Given the description of an element on the screen output the (x, y) to click on. 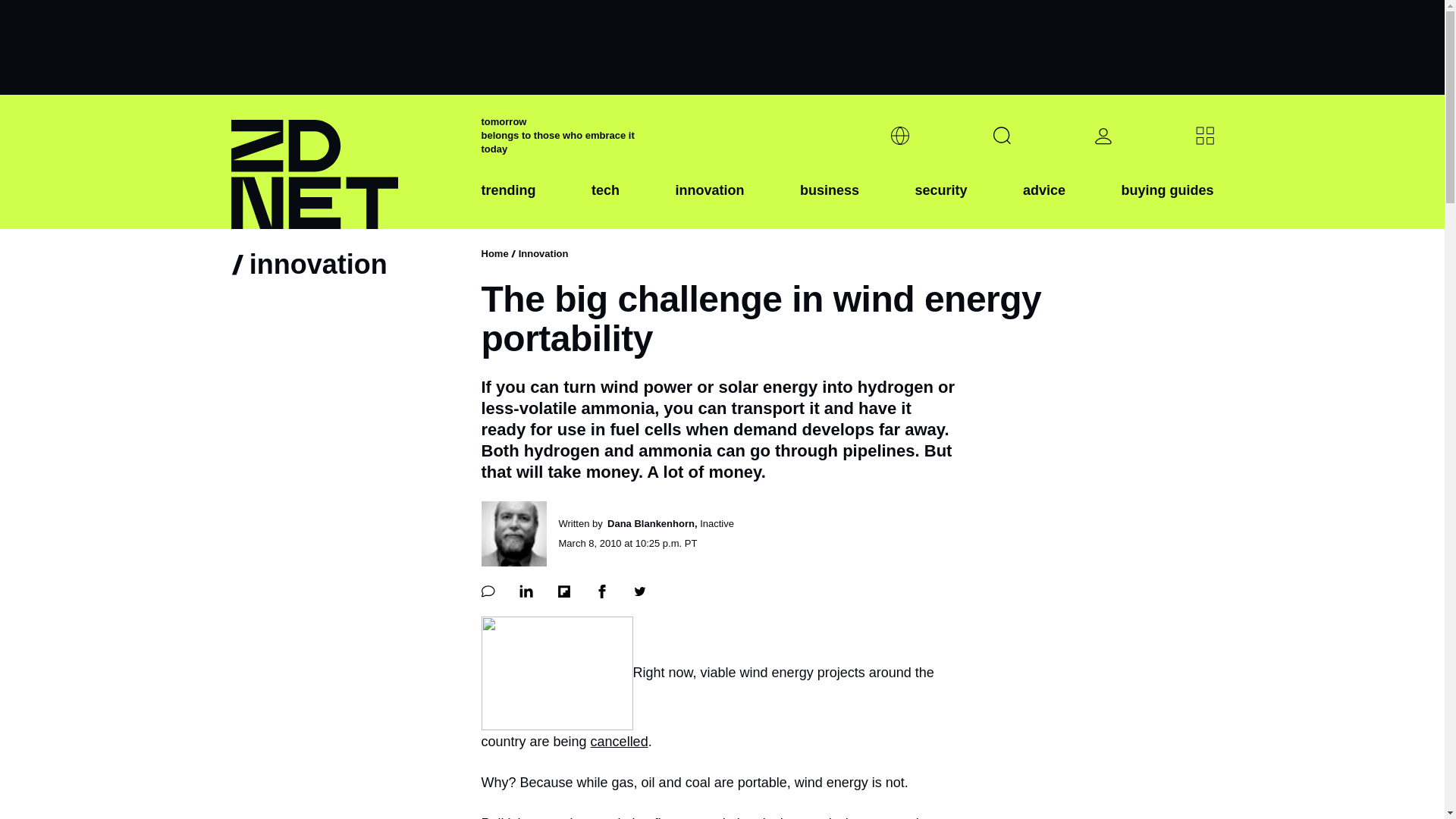
ZDNET (346, 162)
trending (507, 202)
wind-farm (555, 673)
